Given the description of an element on the screen output the (x, y) to click on. 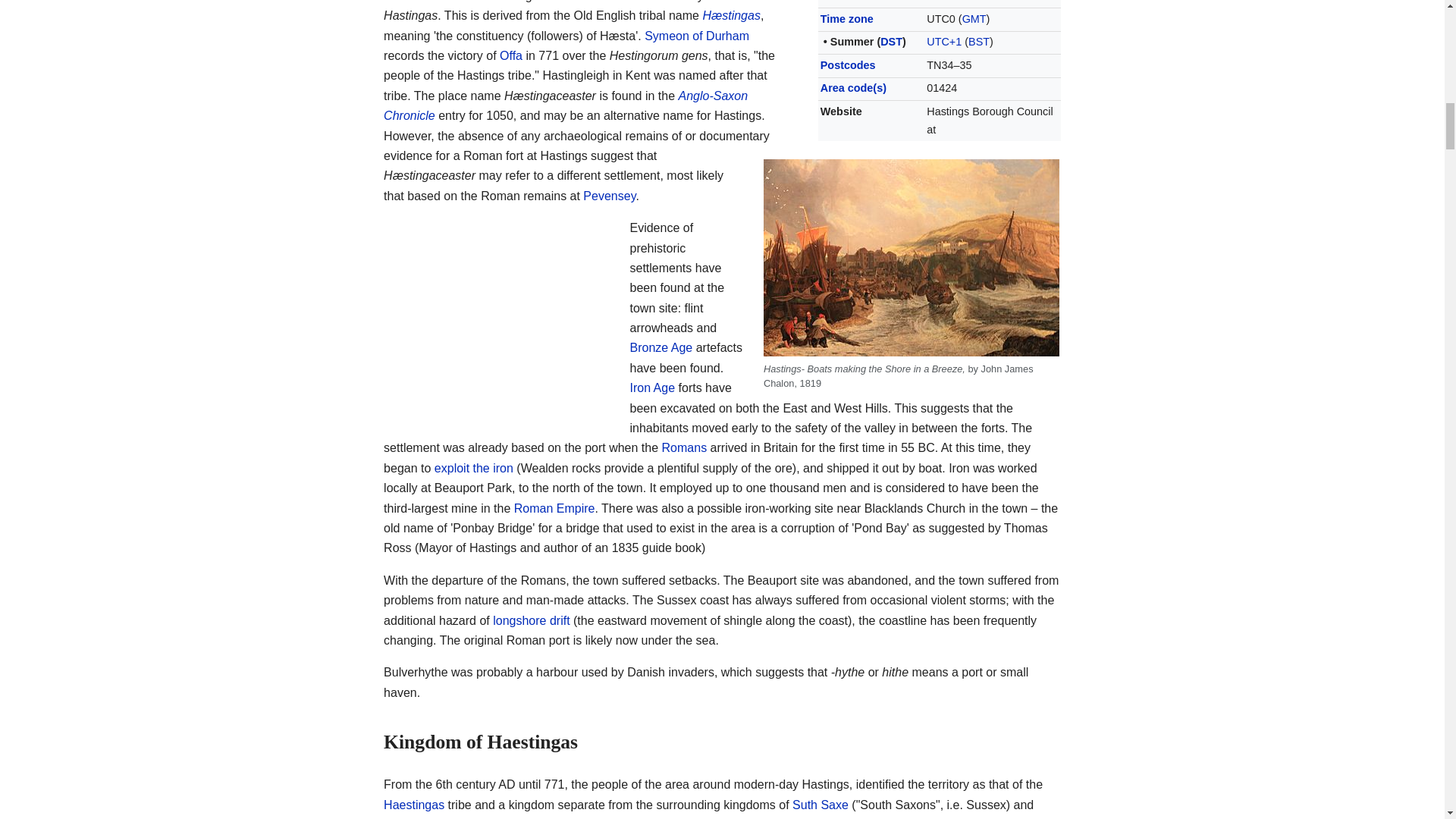
GMT (974, 19)
BST (979, 41)
Time zone (847, 19)
Postcodes (848, 64)
Time zone (847, 19)
DST (891, 41)
